Given the description of an element on the screen output the (x, y) to click on. 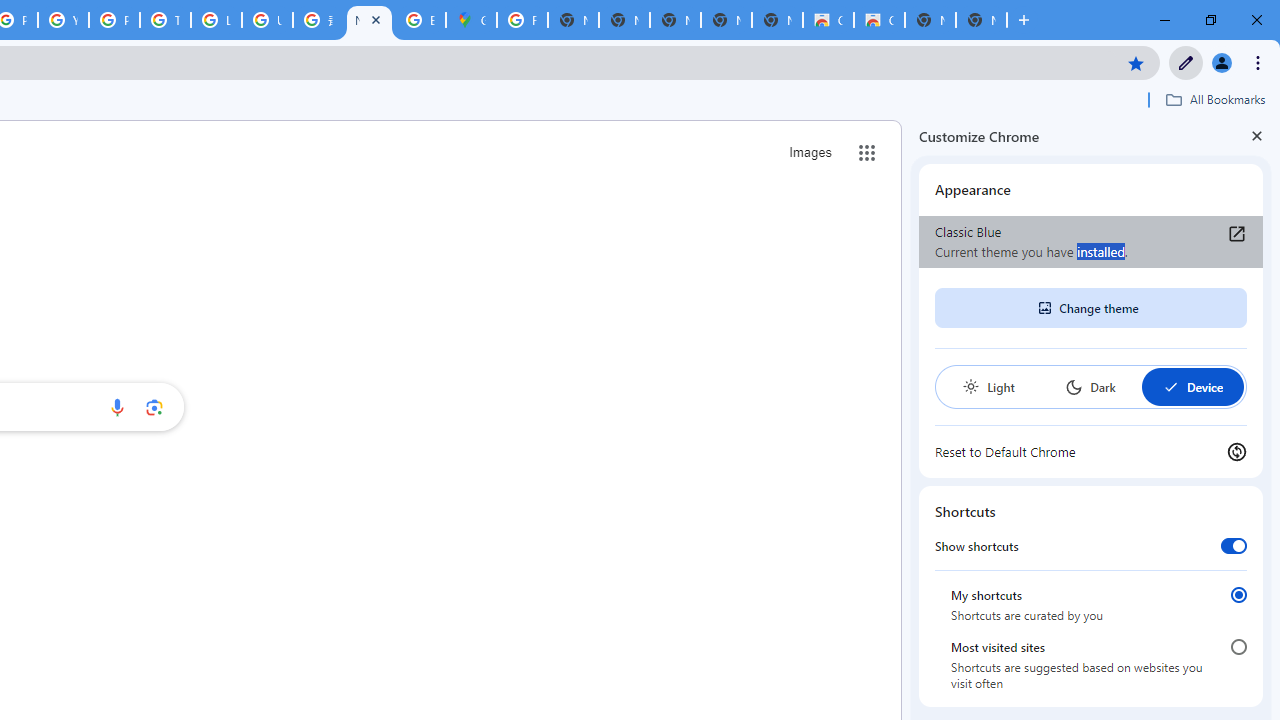
My shortcuts (1238, 594)
Most visited sites (1238, 647)
Tips & tricks for Chrome - Google Chrome Help (164, 20)
